Given the description of an element on the screen output the (x, y) to click on. 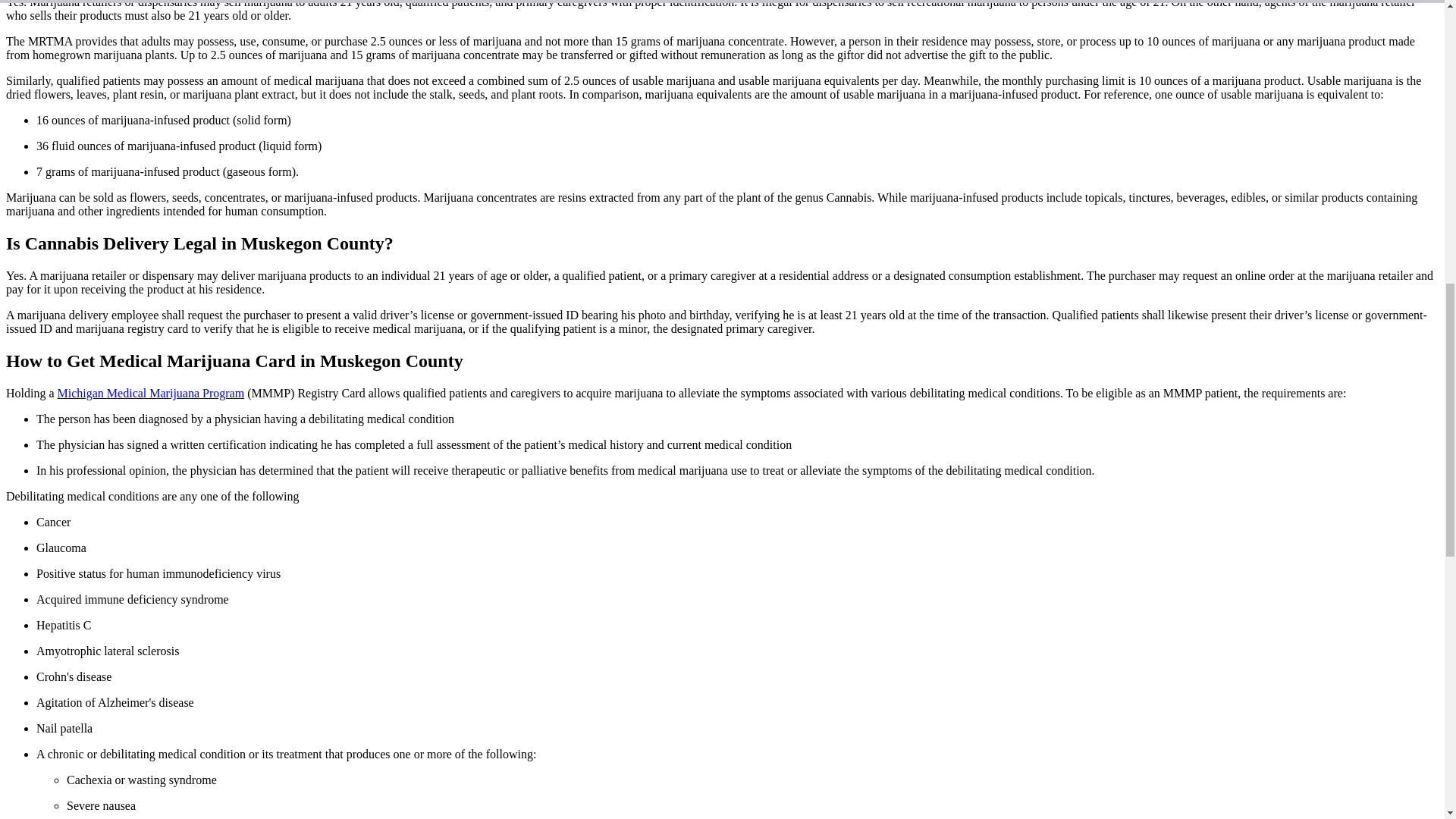
Michigan Medical Marijuana Program (151, 392)
